Given the description of an element on the screen output the (x, y) to click on. 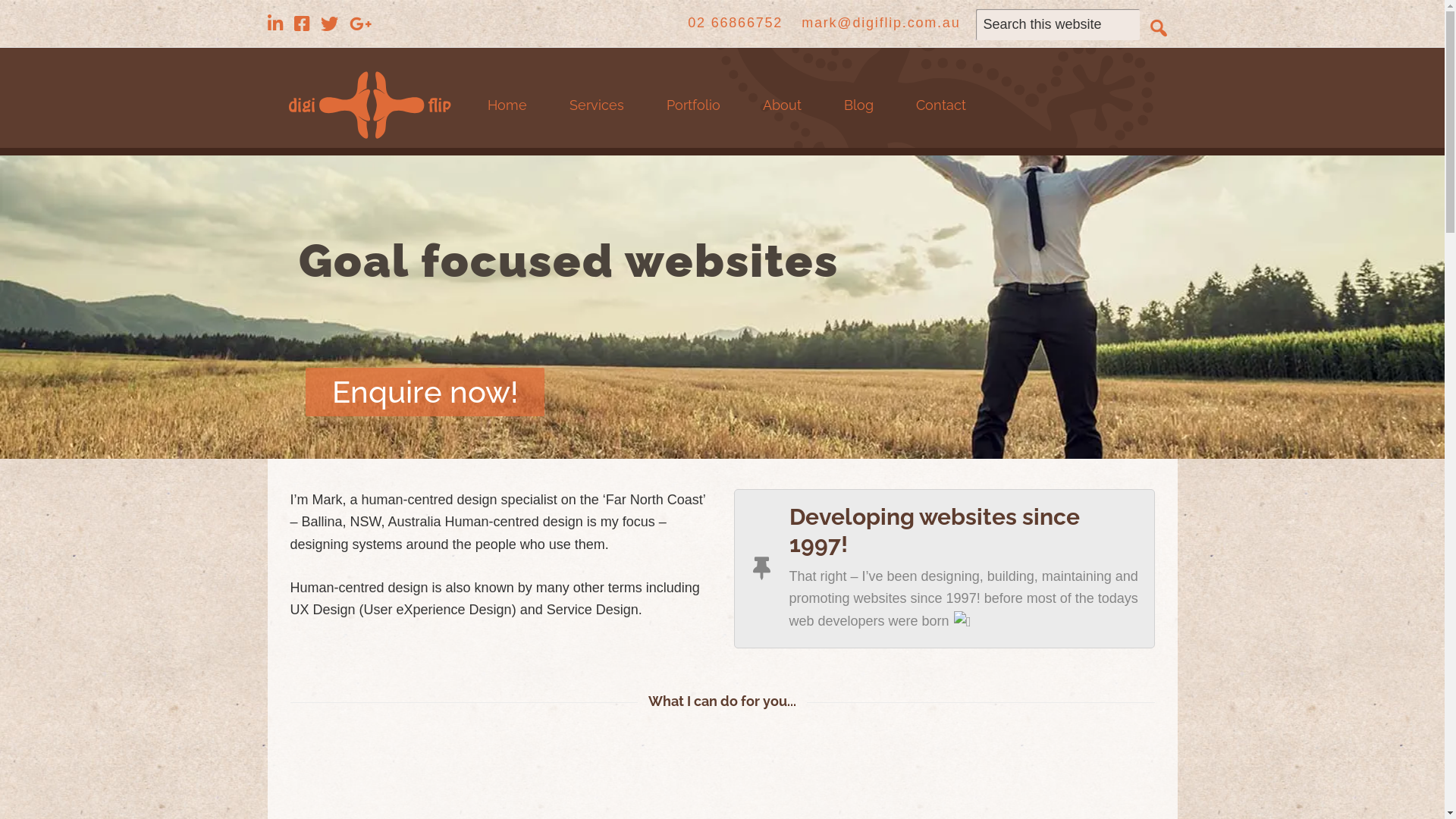
https://www.digiflip.com.au Element type: text (368, 105)
check me out on Google Plus Element type: hover (360, 25)
Contact Element type: text (940, 117)
Portfolio Element type: text (692, 117)
Blog Element type: text (858, 117)
check me out on Twitter Element type: hover (329, 25)
check me out on Facebook Element type: hover (301, 25)
check me out on LinkedIn Element type: hover (274, 25)
Services Element type: text (595, 117)
About Element type: text (781, 117)
02 66866752 Element type: text (734, 23)
mark@digiflip.com.au Element type: text (880, 23)
Home Element type: text (506, 117)
